Given the description of an element on the screen output the (x, y) to click on. 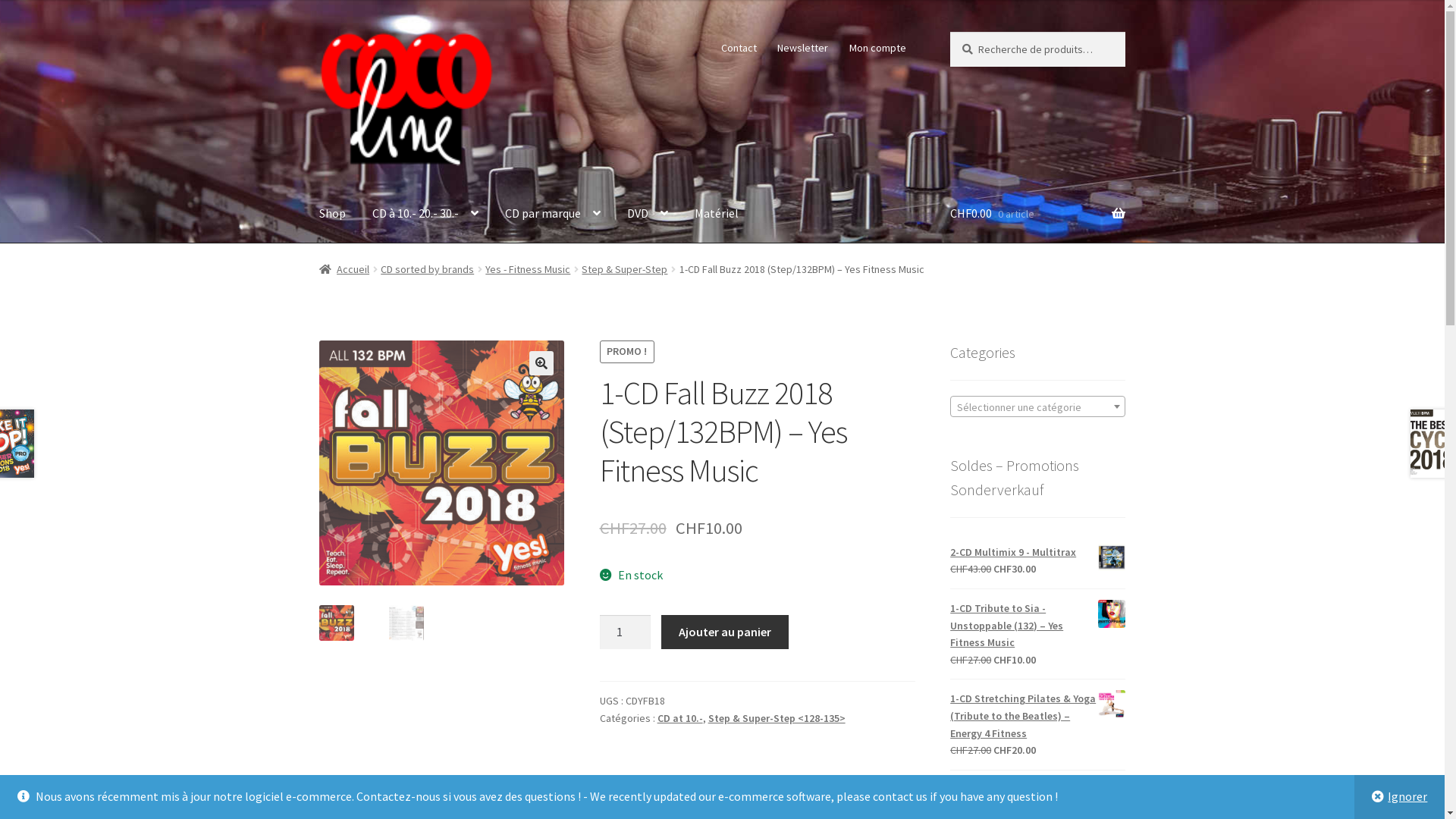
Shop Element type: text (332, 213)
Contact Element type: text (738, 47)
CD par marque Element type: text (552, 213)
2-CD Multimix 9 - Multitrax Element type: text (1037, 552)
Yes - Fitness Music Element type: text (527, 269)
YES1319-2R Element type: hover (686, 446)
Mon compte Element type: text (877, 47)
Fall buzz 2018.coversquare Element type: hover (441, 463)
CD sorted by brands Element type: text (426, 269)
Ajouter au panier Element type: text (724, 632)
Recherche Element type: text (949, 31)
CHF0.00 0 article Element type: text (1037, 213)
1-CD Petra's Poptimistic (Step) - Yes Fitness Music Element type: text (1037, 798)
Step & Super-Step <128-135> Element type: text (776, 717)
Accueil Element type: text (344, 269)
Newsletter Element type: text (802, 47)
CD at 10.- Element type: text (679, 717)
DVD Element type: text (647, 213)
Step & Super-Step Element type: text (624, 269)
